Given the description of an element on the screen output the (x, y) to click on. 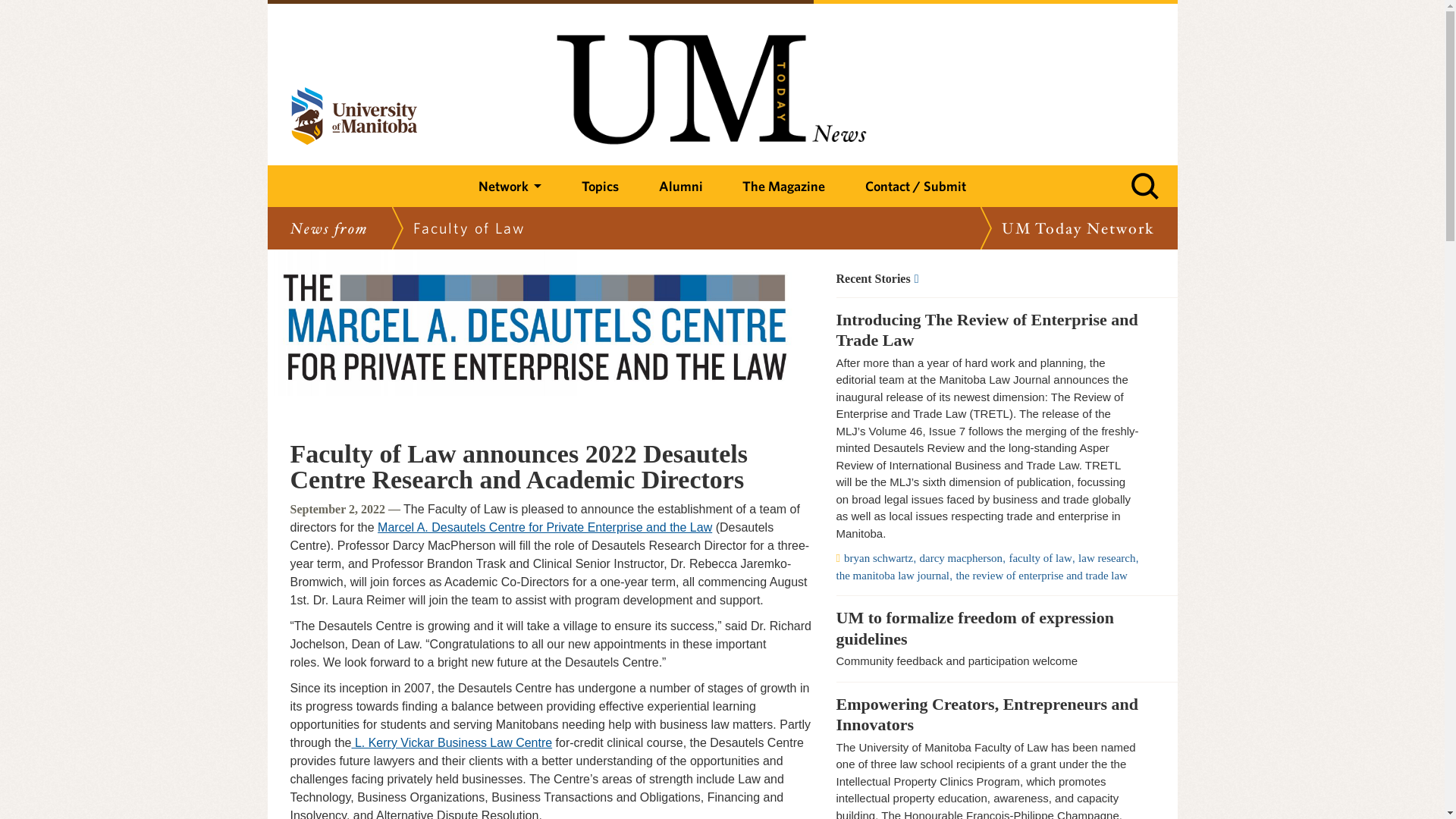
News Archives (986, 278)
Network (510, 186)
Introducing The Review of Enterprise and Trade Law (986, 330)
UM to formalize freedom of expression guidelines (986, 628)
Empowering Creators, Entrepreneurs and Innovators (986, 714)
